Given the description of an element on the screen output the (x, y) to click on. 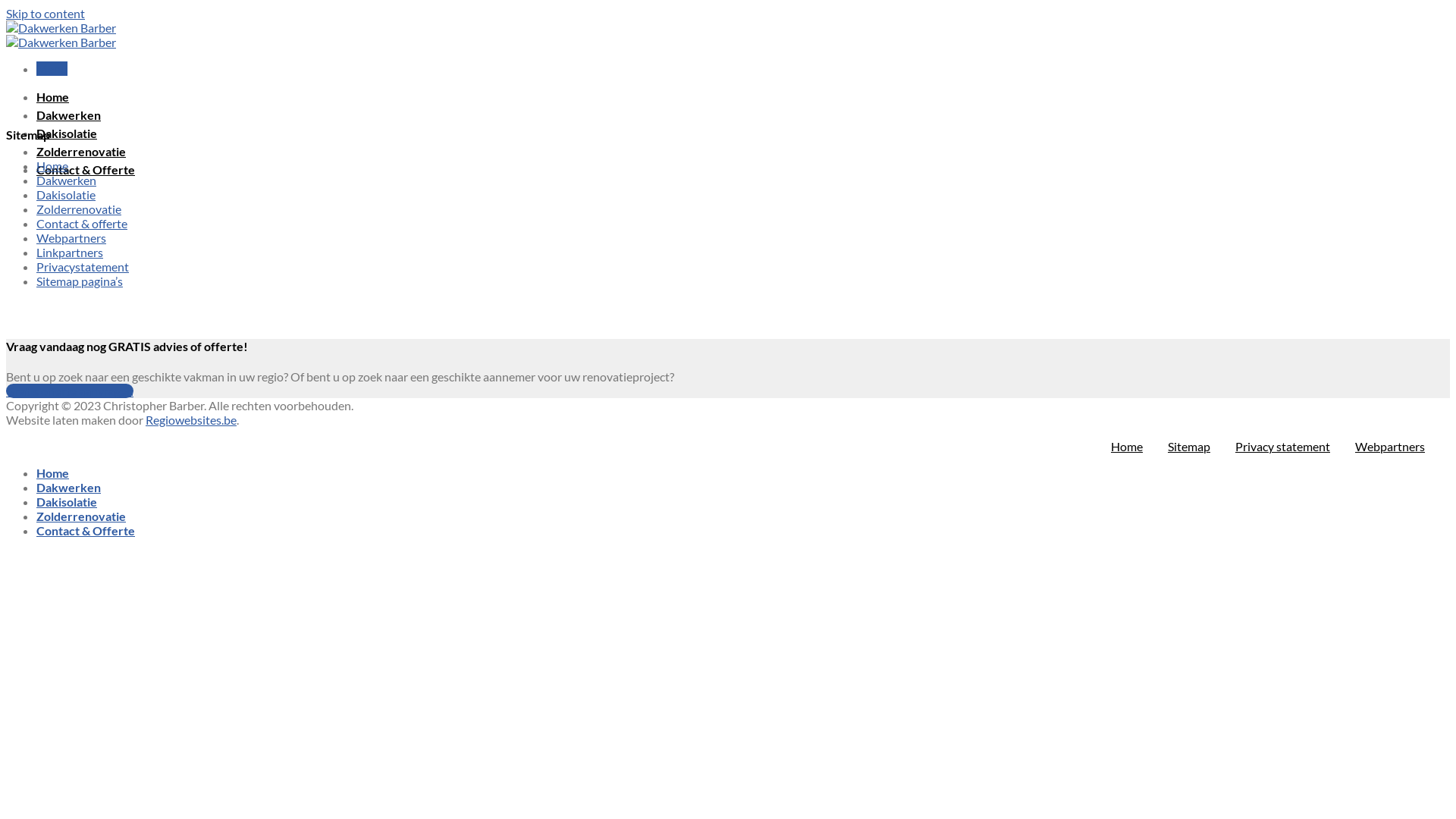
Contact & Offerte Element type: text (85, 530)
Linkpartners Element type: text (69, 251)
Contact & Offerte Element type: text (85, 169)
Menu Element type: text (51, 68)
Sitemap Element type: text (1188, 446)
Home Element type: text (1126, 446)
Home Element type: text (52, 472)
Dakisolatie Element type: text (66, 132)
Dakwerken Element type: text (68, 114)
Zolderrenovatie Element type: text (80, 151)
Dakwerken Barber - Dakwerken Mechelen & omstreken Element type: hover (61, 34)
Gratis offerte aanvragen Element type: text (69, 390)
Dakisolatie Element type: text (65, 194)
Privacy statement Element type: text (1282, 446)
Contact & offerte Element type: text (81, 223)
Dakisolatie Element type: text (66, 501)
Webpartners Element type: text (71, 237)
Home Element type: text (52, 96)
Regiowebsites.be Element type: text (190, 419)
Home Element type: text (52, 165)
Zolderrenovatie Element type: text (80, 515)
Privacystatement Element type: text (82, 266)
Skip to content Element type: text (45, 13)
Dakwerken Element type: text (68, 487)
Zolderrenovatie Element type: text (78, 208)
Dakwerken Element type: text (66, 179)
Webpartners Element type: text (1389, 446)
